Given the description of an element on the screen output the (x, y) to click on. 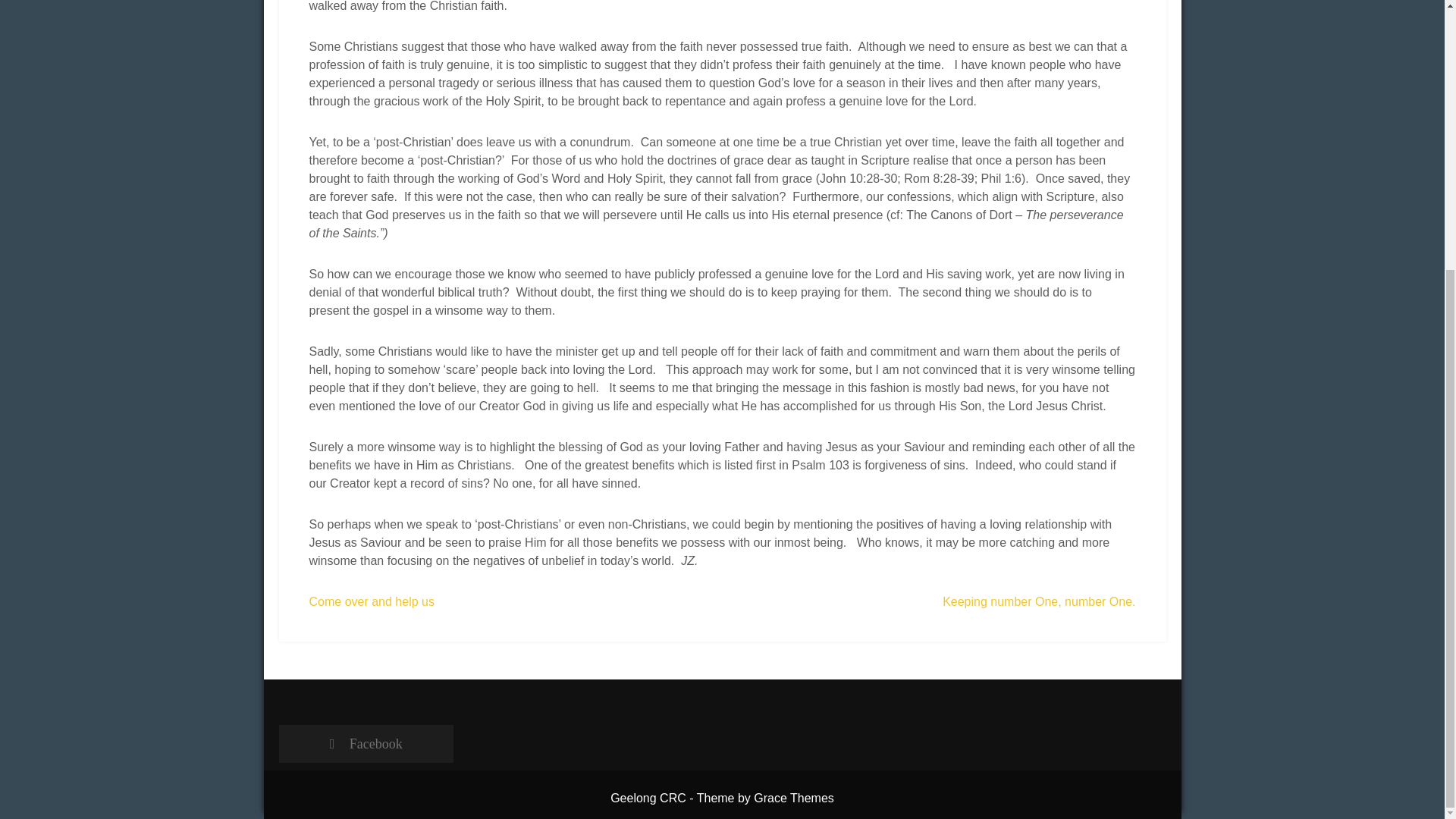
Keeping number One, number One. (1038, 601)
Come over and help us (370, 601)
Facebook (365, 743)
Facebook (365, 743)
